Given the description of an element on the screen output the (x, y) to click on. 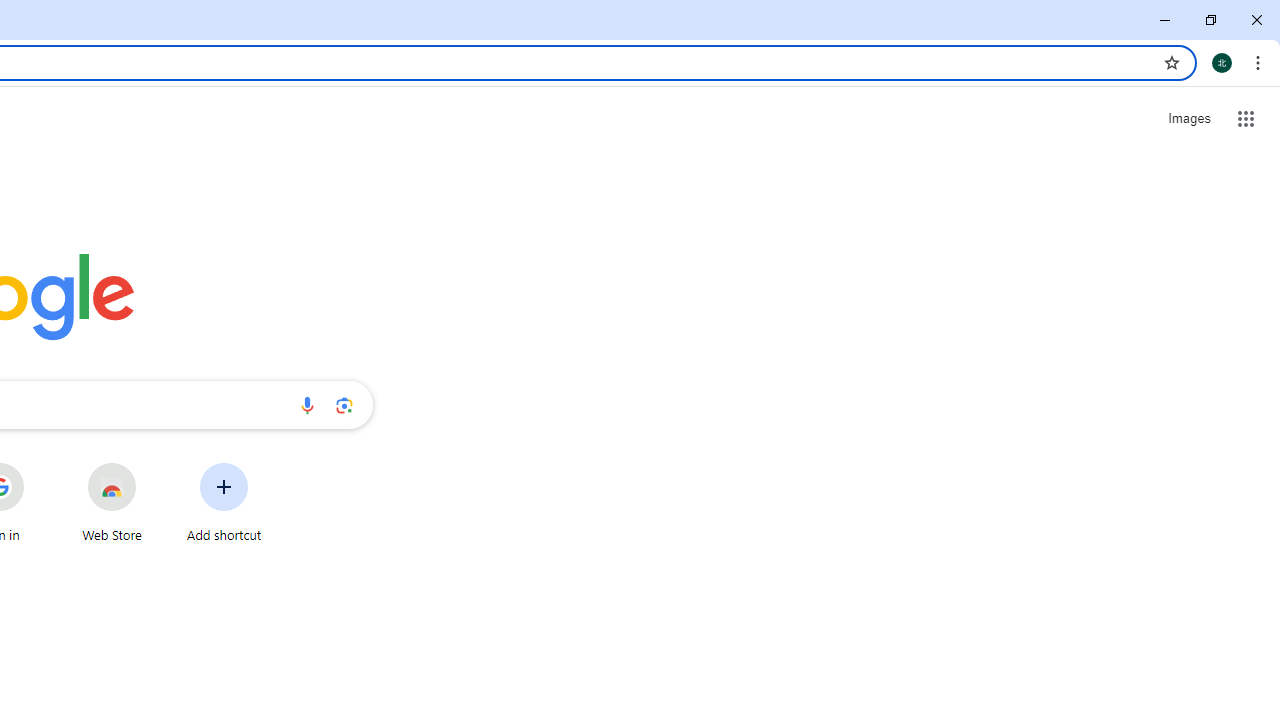
Search for Images  (1188, 119)
Web Store (111, 502)
Google apps (1245, 118)
Search by image (344, 404)
Chrome (1260, 62)
Close (1256, 20)
Bookmark this tab (1171, 62)
More actions for Sign in shortcut (39, 464)
Restore (1210, 20)
Add shortcut (223, 502)
Search by voice (307, 404)
Minimize (1165, 20)
More actions for Web Store shortcut (152, 464)
